Given the description of an element on the screen output the (x, y) to click on. 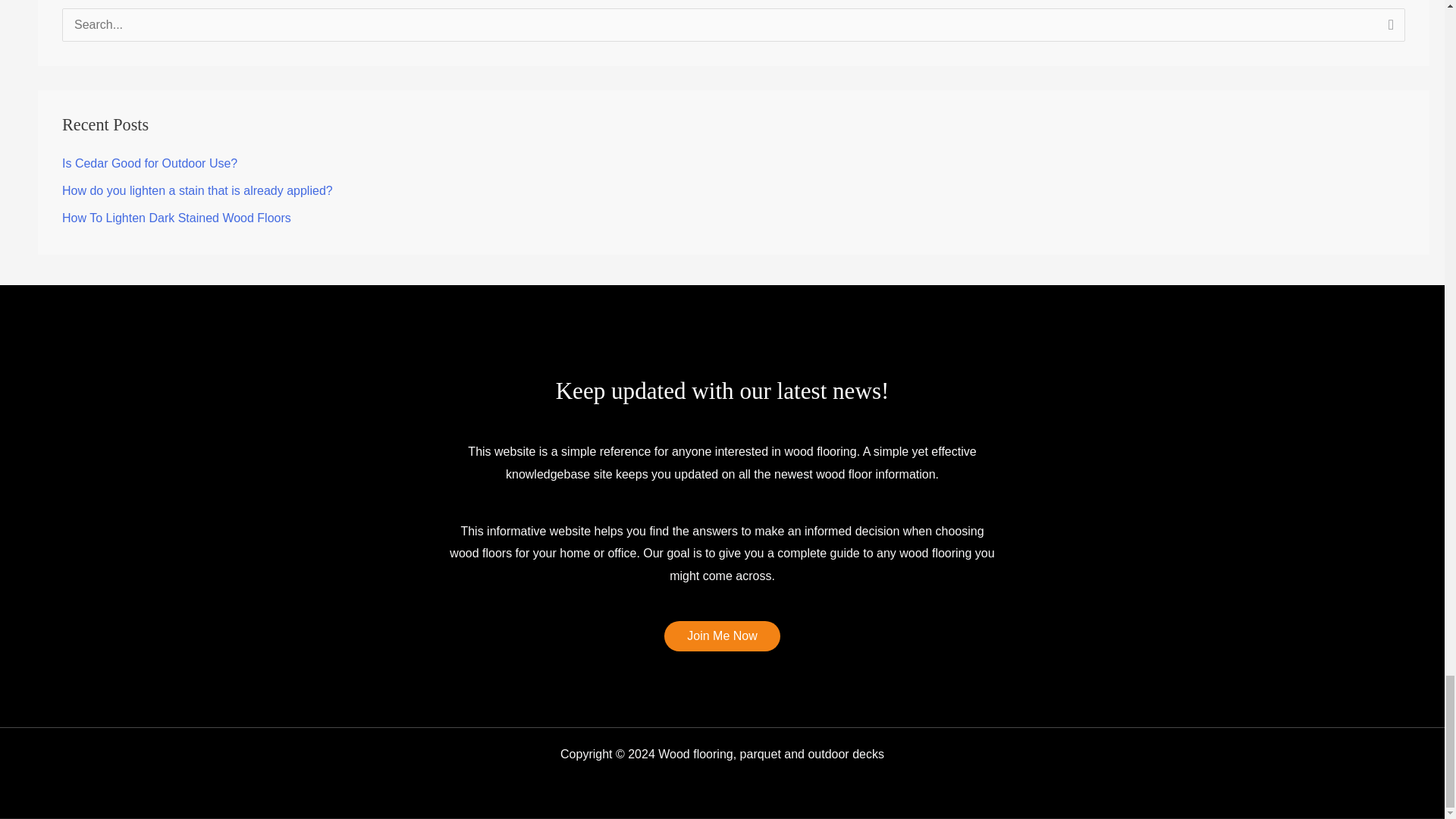
Is Cedar Good for Outdoor Use? (149, 163)
Join Me Now (720, 635)
How To Lighten Dark Stained Wood Floors (176, 217)
How do you lighten a stain that is already applied? (197, 190)
